Given the description of an element on the screen output the (x, y) to click on. 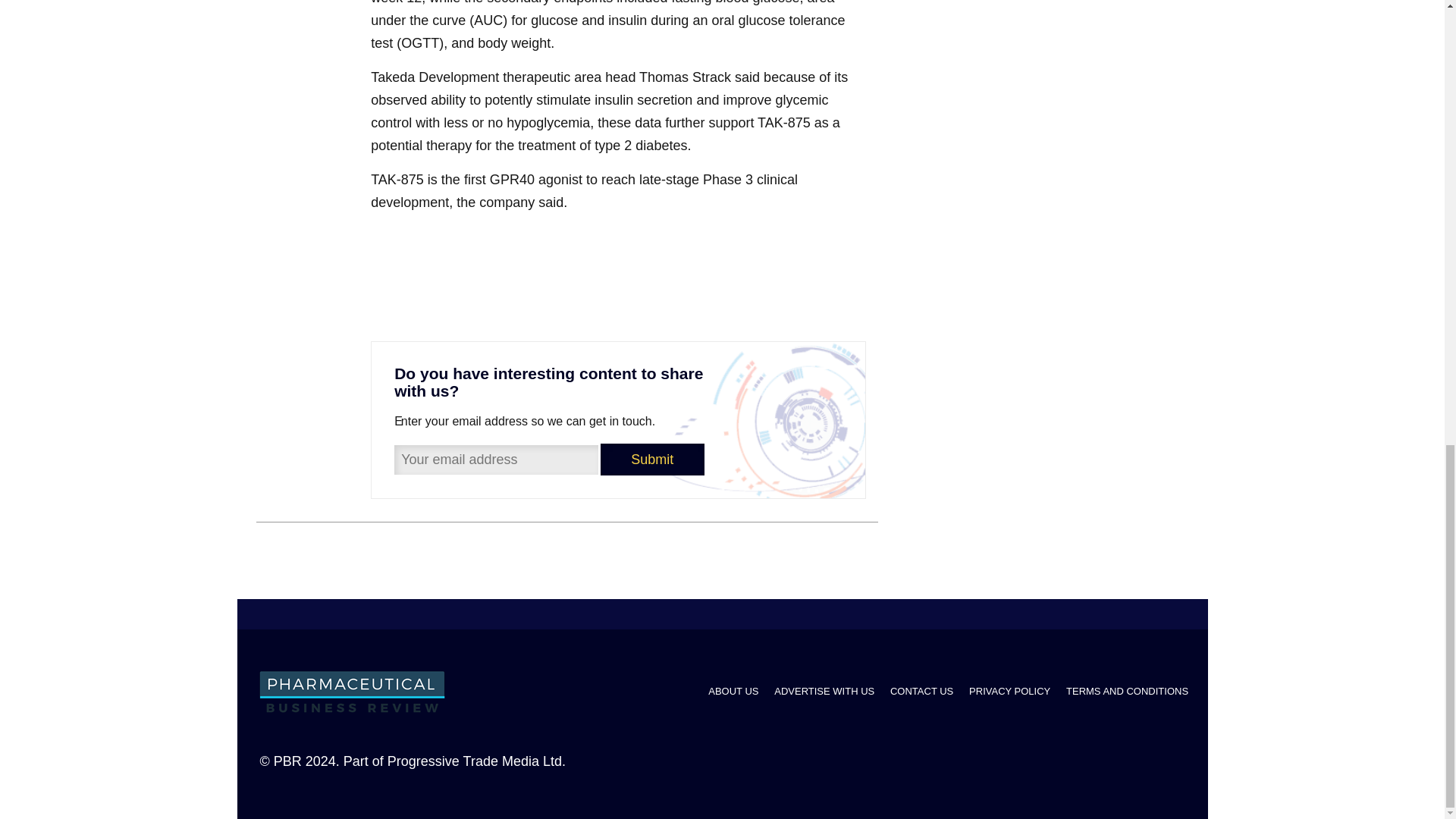
Submit (651, 459)
